Given the description of an element on the screen output the (x, y) to click on. 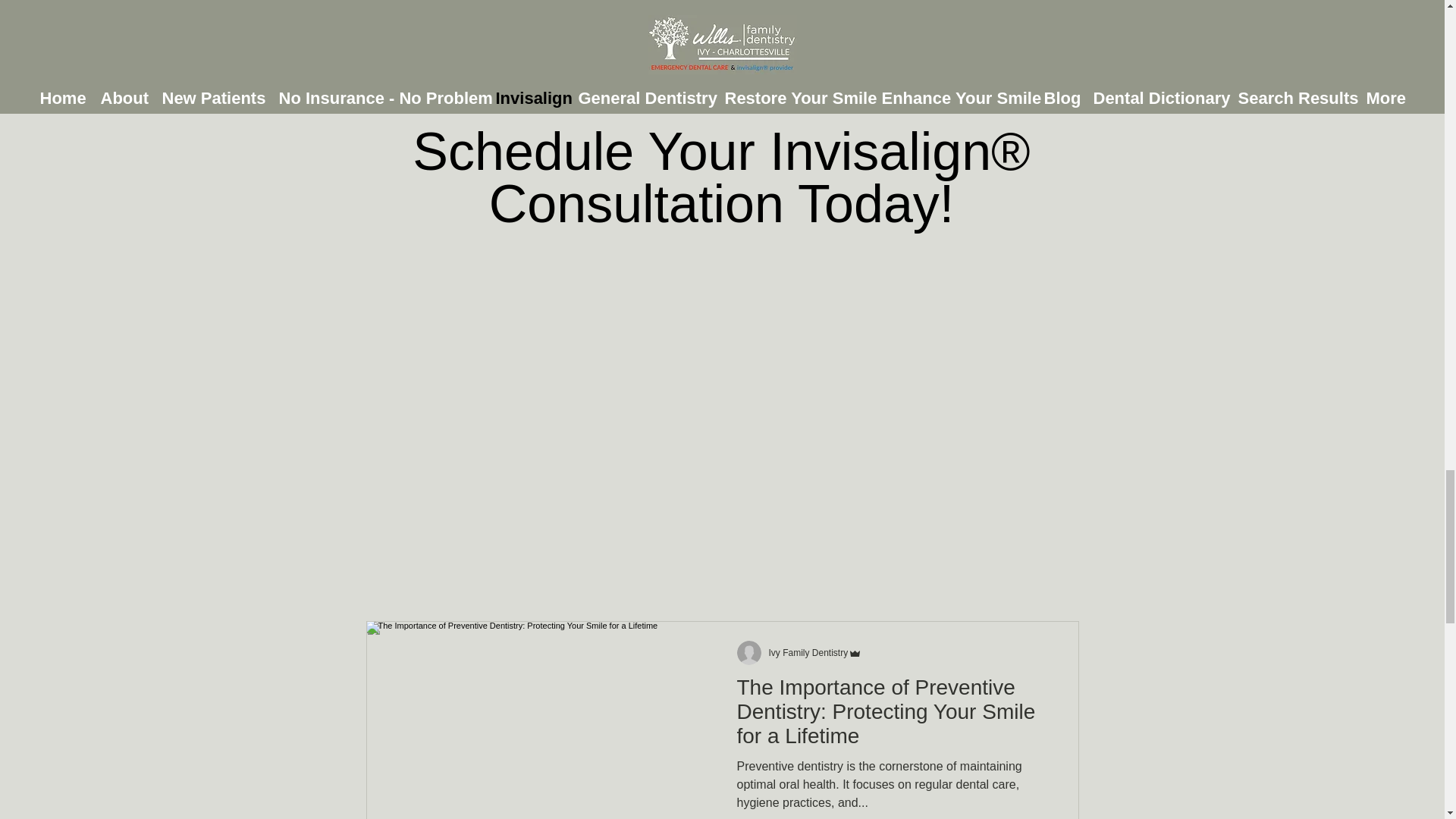
Ivy Family Dentistry (808, 652)
Ivy Family Dentistry (815, 653)
